Given the description of an element on the screen output the (x, y) to click on. 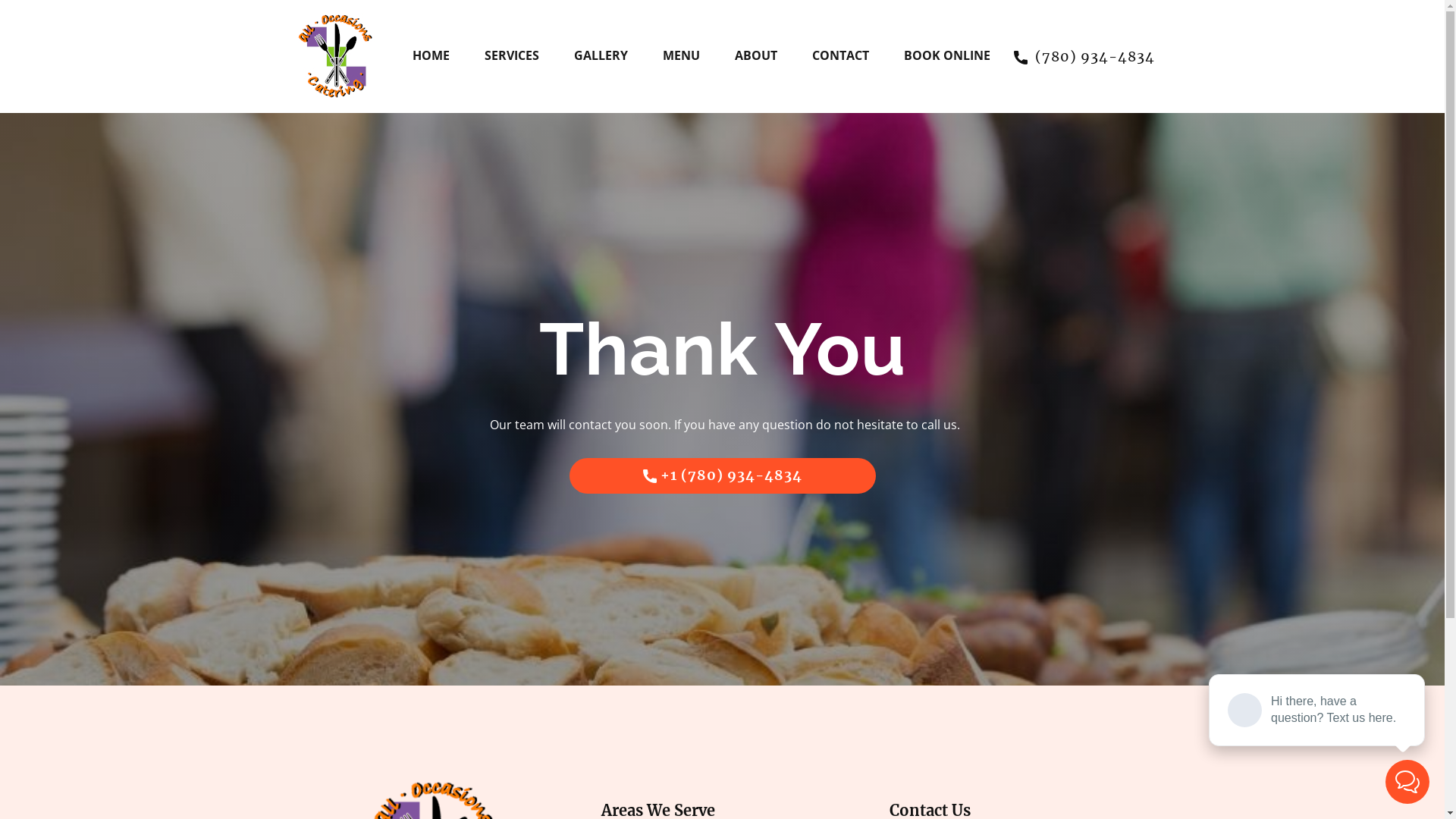
SERVICES Element type: text (510, 55)
GALLERY Element type: text (600, 55)
MENU Element type: text (681, 55)
  (780) 934-4834 Element type: text (1083, 57)
HOME Element type: text (430, 55)
ABOUT Element type: text (755, 55)
BOOK ONLINE Element type: text (946, 55)
CONTACT Element type: text (839, 55)
 +1 (780) 934-4834 Element type: text (722, 475)
